Given the description of an element on the screen output the (x, y) to click on. 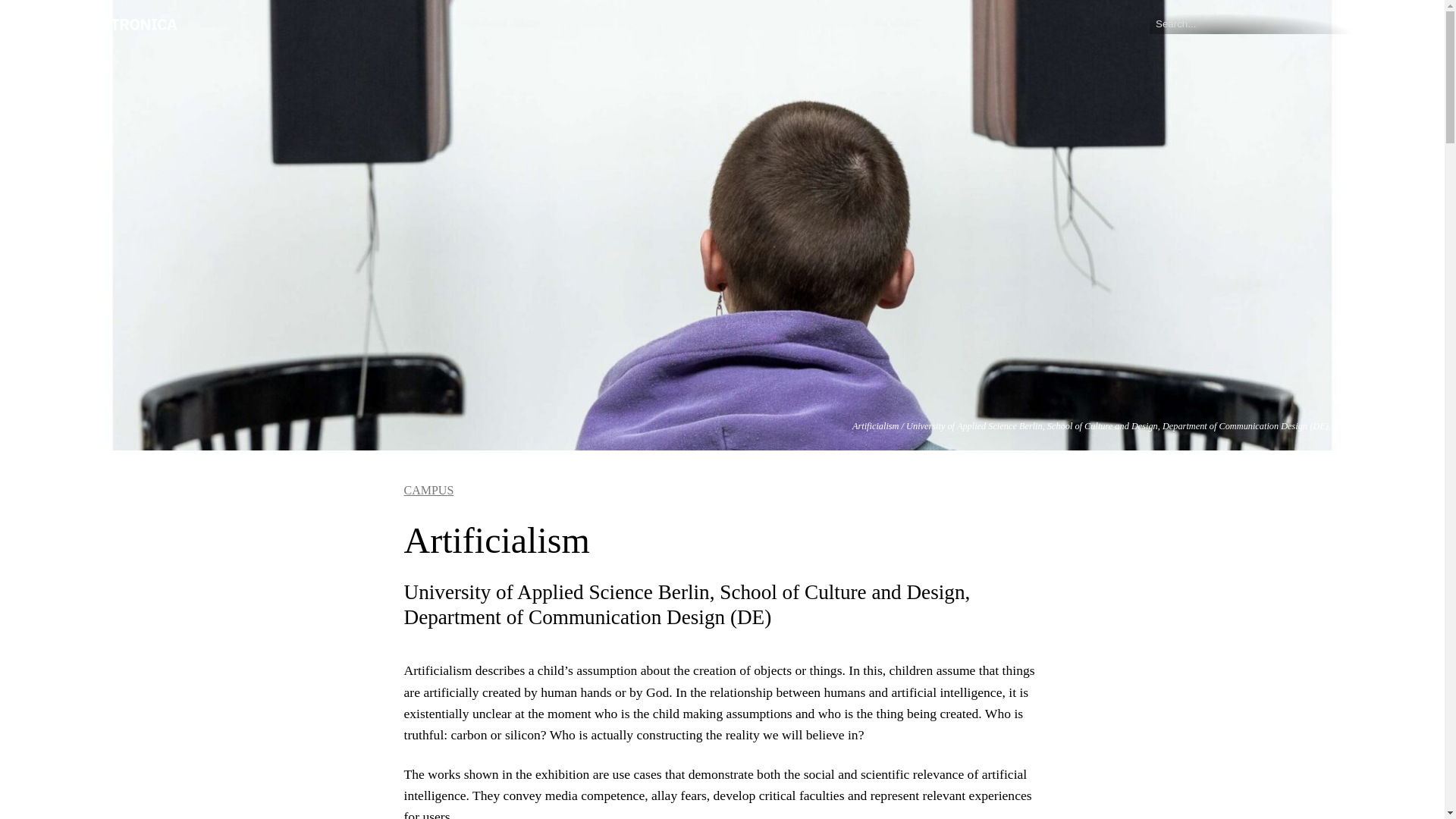
Ars Electronica (95, 21)
